Given the description of an element on the screen output the (x, y) to click on. 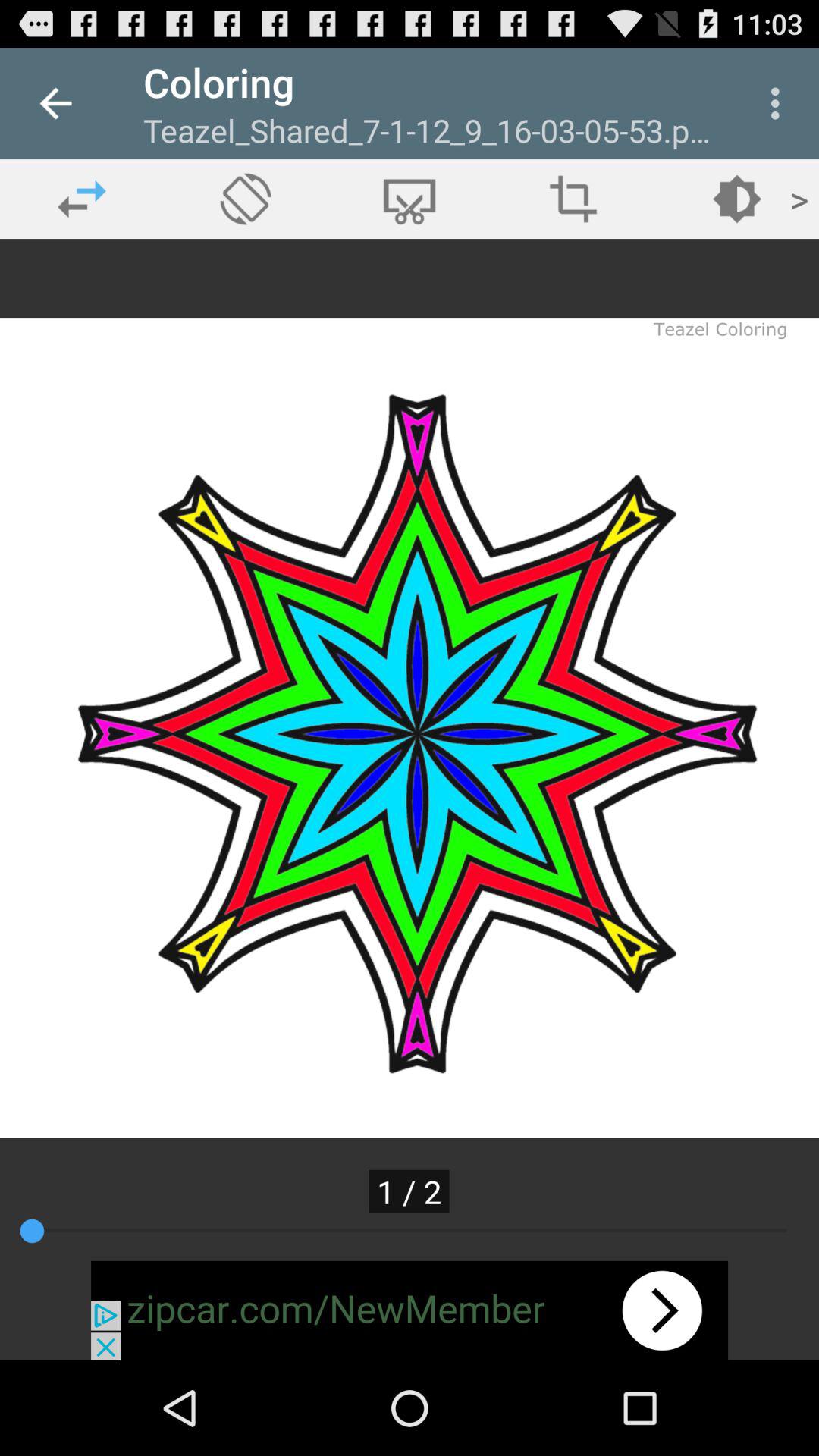
crop tool (573, 198)
